Given the description of an element on the screen output the (x, y) to click on. 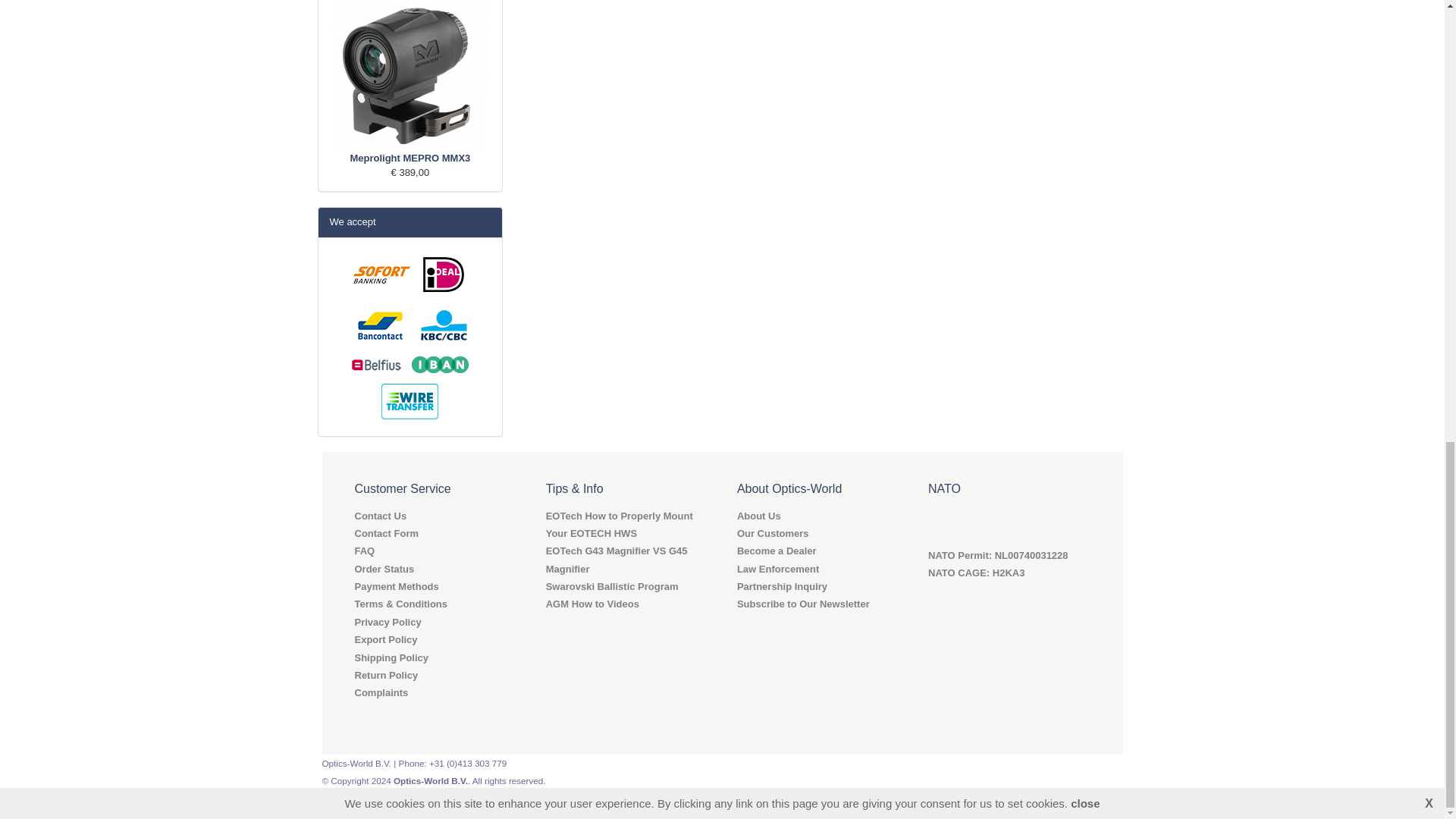
Meprolight MEPRO MMX3 (409, 75)
